Given the description of an element on the screen output the (x, y) to click on. 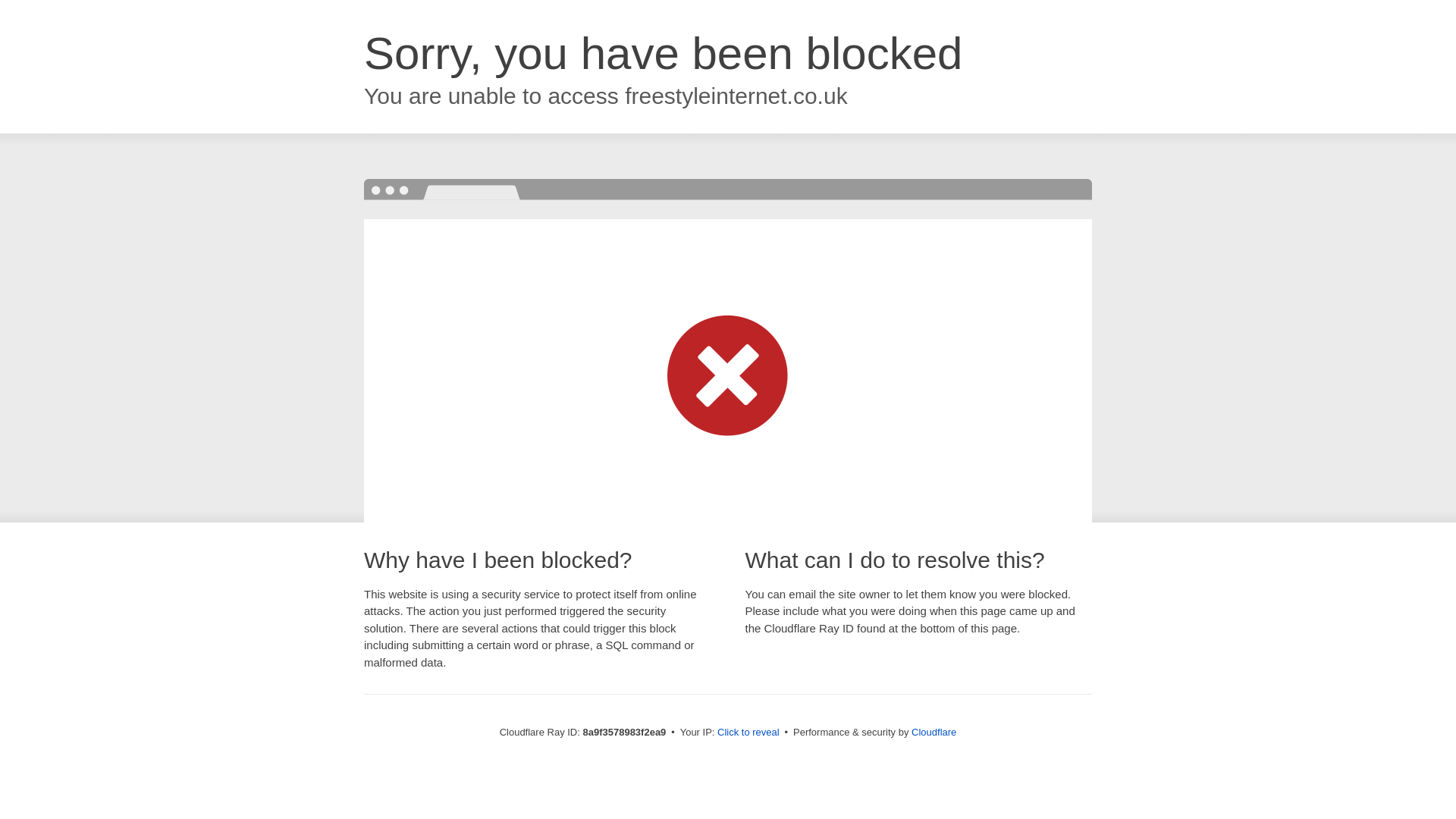
Cloudflare (933, 731)
Click to reveal (747, 732)
